Given the description of an element on the screen output the (x, y) to click on. 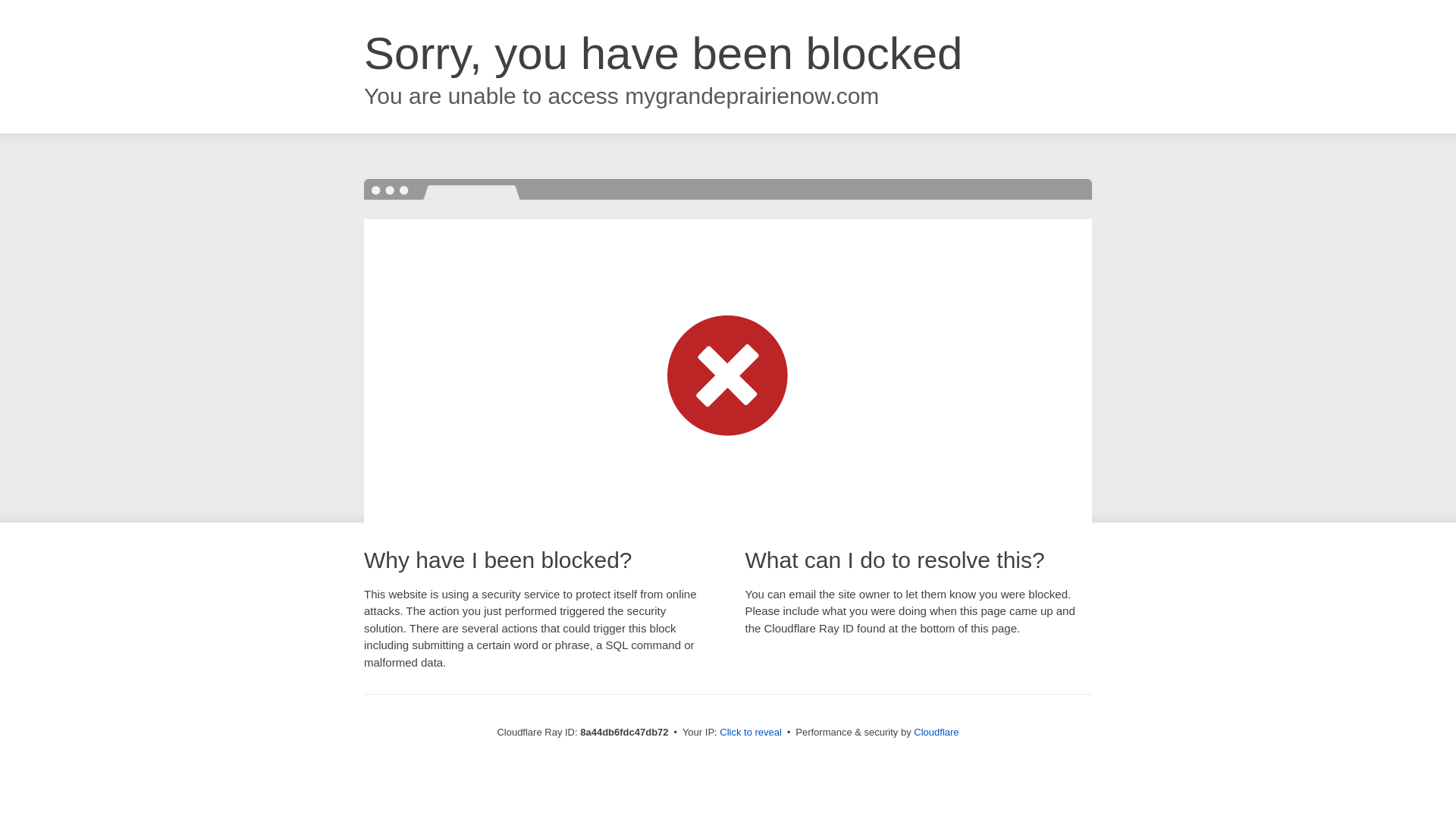
Click to reveal (750, 732)
Cloudflare (936, 731)
